Given the description of an element on the screen output the (x, y) to click on. 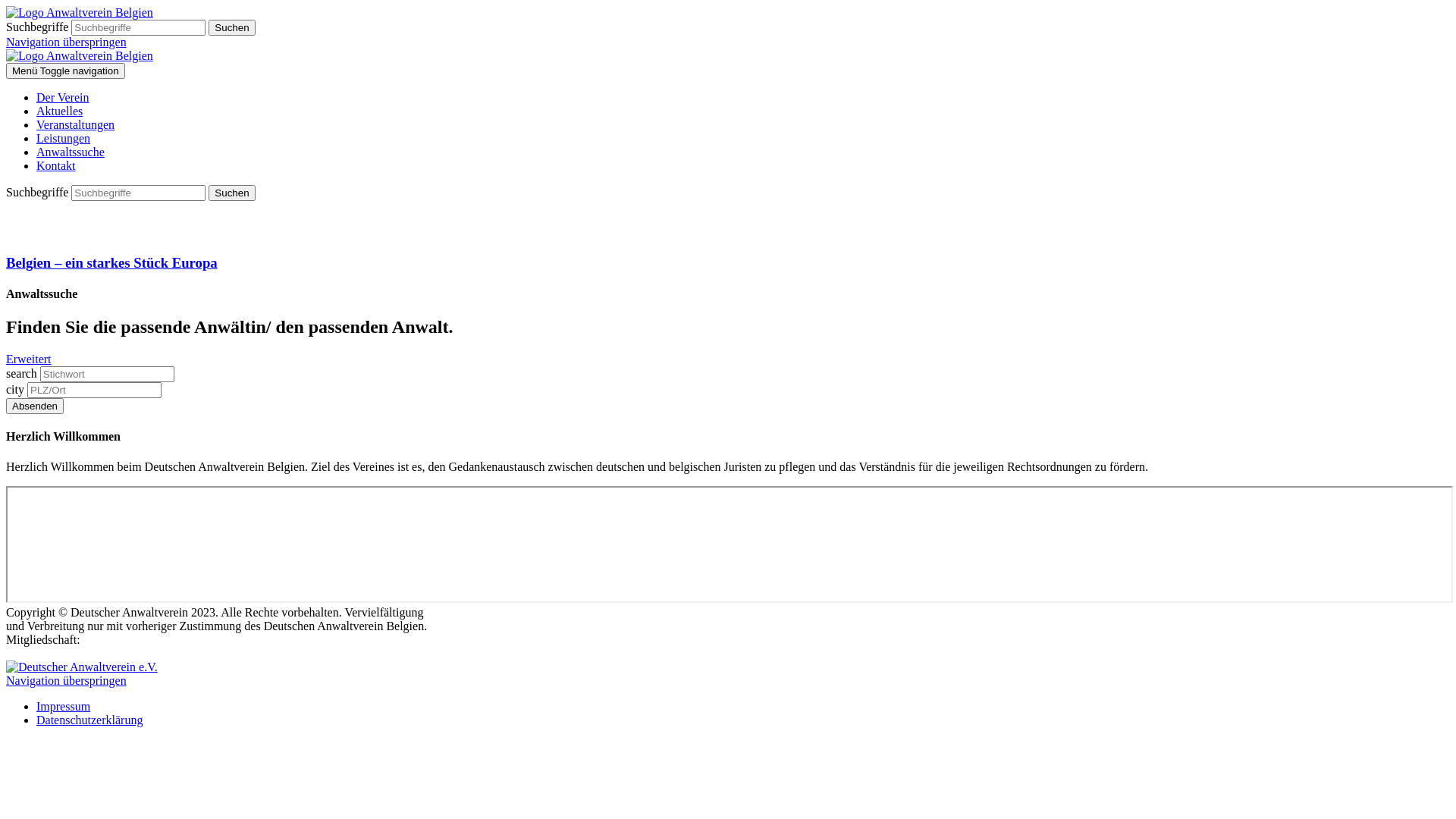
Kontakt Element type: text (55, 165)
Erweitert Element type: text (28, 358)
Aktuelles Element type: text (59, 110)
Leistungen Element type: text (63, 137)
Impressum Element type: text (63, 705)
Absenden Element type: text (34, 406)
  Element type: text (7, 745)
Der Verein Element type: text (62, 97)
Suchen Element type: text (231, 27)
Anwaltssuche Element type: text (70, 151)
Veranstaltungen Element type: text (75, 124)
  Element type: text (7, 206)
Suchen Element type: text (231, 192)
